Given the description of an element on the screen output the (x, y) to click on. 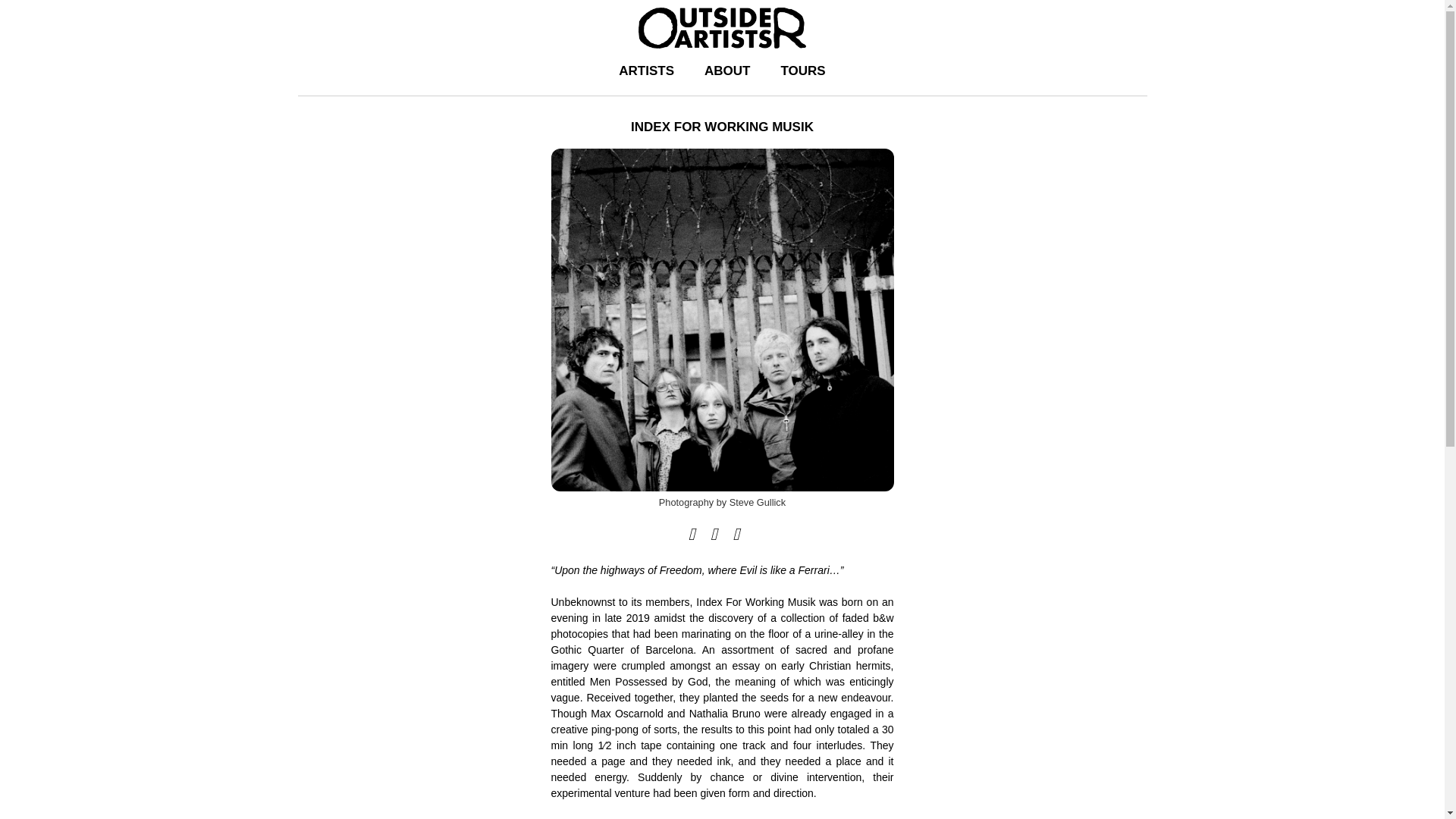
TOURS (802, 70)
ABOUT (726, 70)
ARTISTS (646, 70)
